Given the description of an element on the screen output the (x, y) to click on. 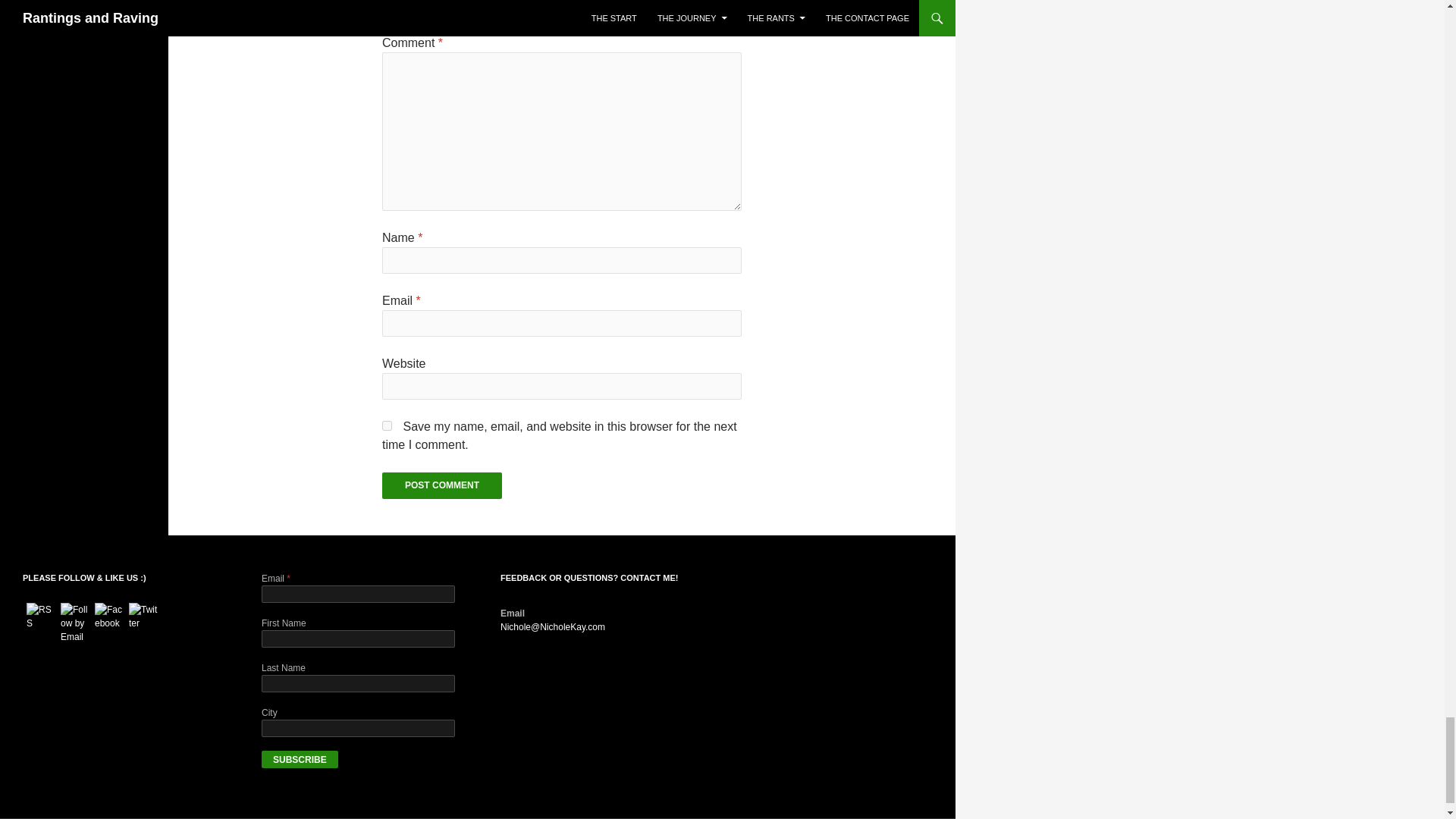
yes (386, 425)
Post Comment (441, 485)
Subscribe (299, 759)
RSS (41, 615)
Twitter (143, 615)
Facebook (109, 615)
